Given the description of an element on the screen output the (x, y) to click on. 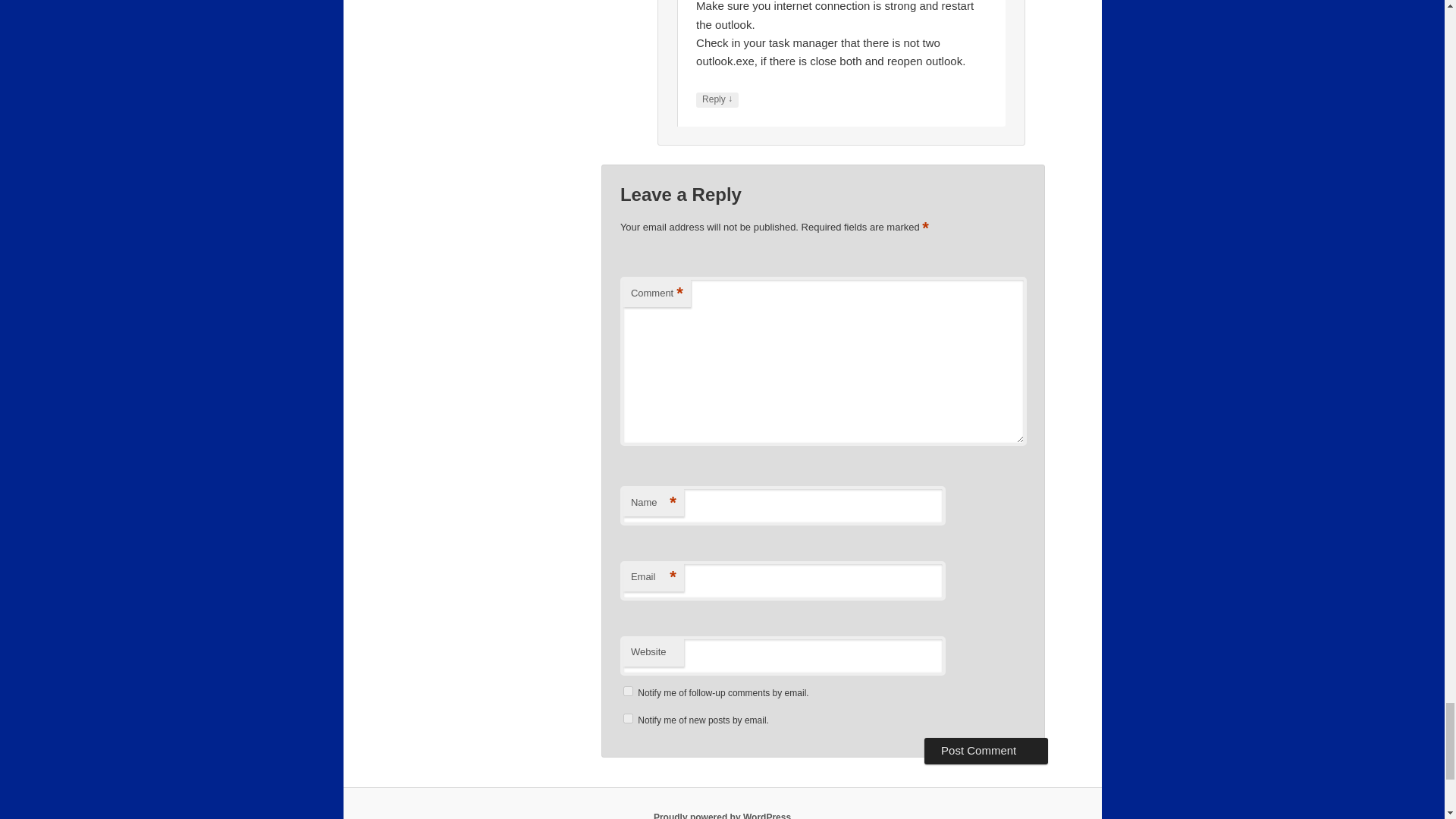
Post Comment (986, 750)
subscribe (628, 718)
subscribe (628, 691)
